Given the description of an element on the screen output the (x, y) to click on. 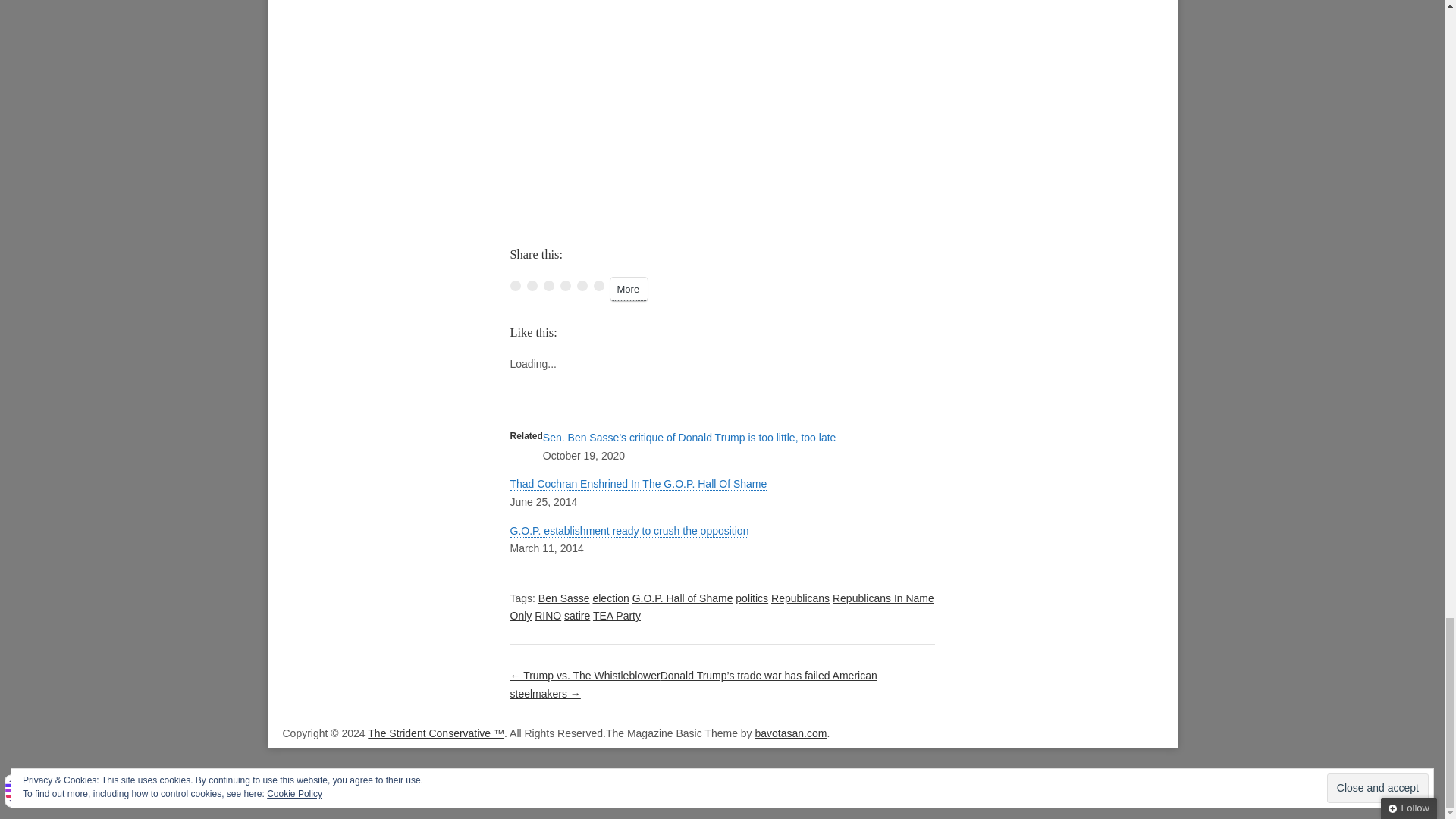
Click to share on Tumblr (598, 285)
Click to share on Reddit (581, 285)
Click to share on Facebook (514, 285)
Click to share on Twitter (531, 285)
Click to share on Pinterest (564, 285)
Click to share on LinkedIn (548, 285)
